Given the description of an element on the screen output the (x, y) to click on. 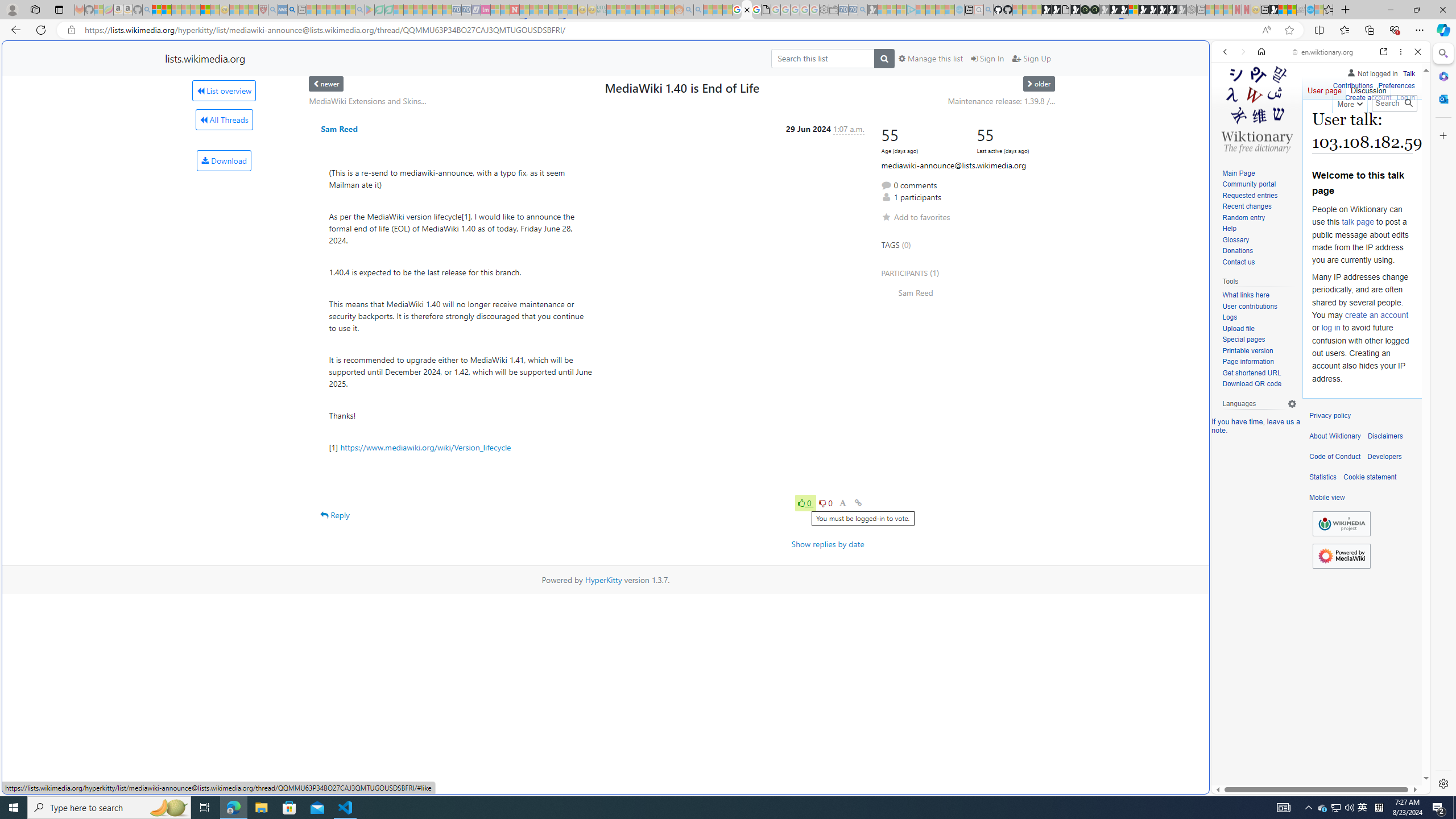
Download QR code (1251, 384)
Tabs you've opened (885, 151)
Printable version (1247, 350)
Disclaimers (1385, 436)
Main Page (1238, 172)
Glossary (1235, 239)
